Given the description of an element on the screen output the (x, y) to click on. 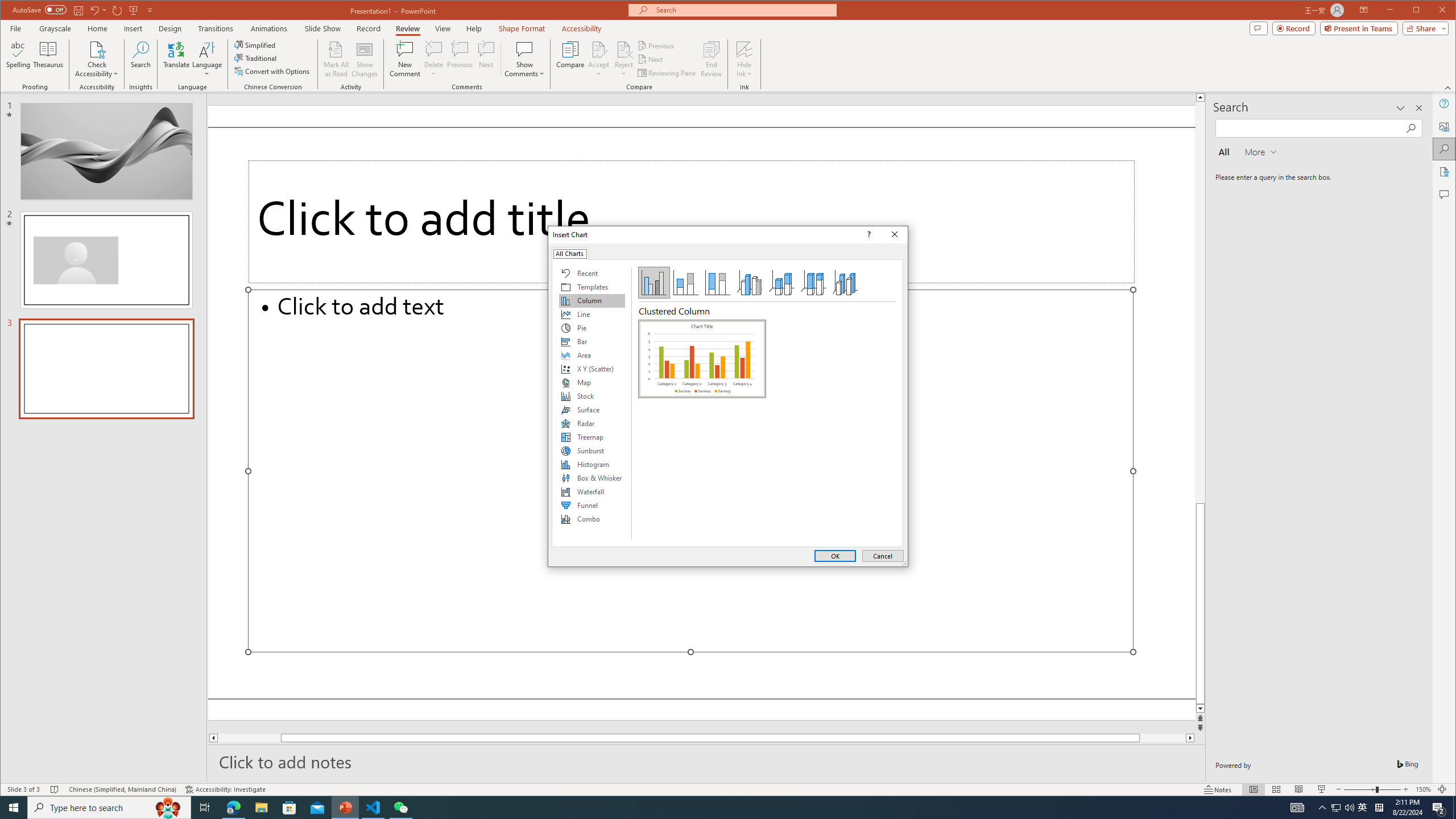
Reject Change (623, 48)
Recent (591, 273)
Stacked Column (685, 282)
